Given the description of an element on the screen output the (x, y) to click on. 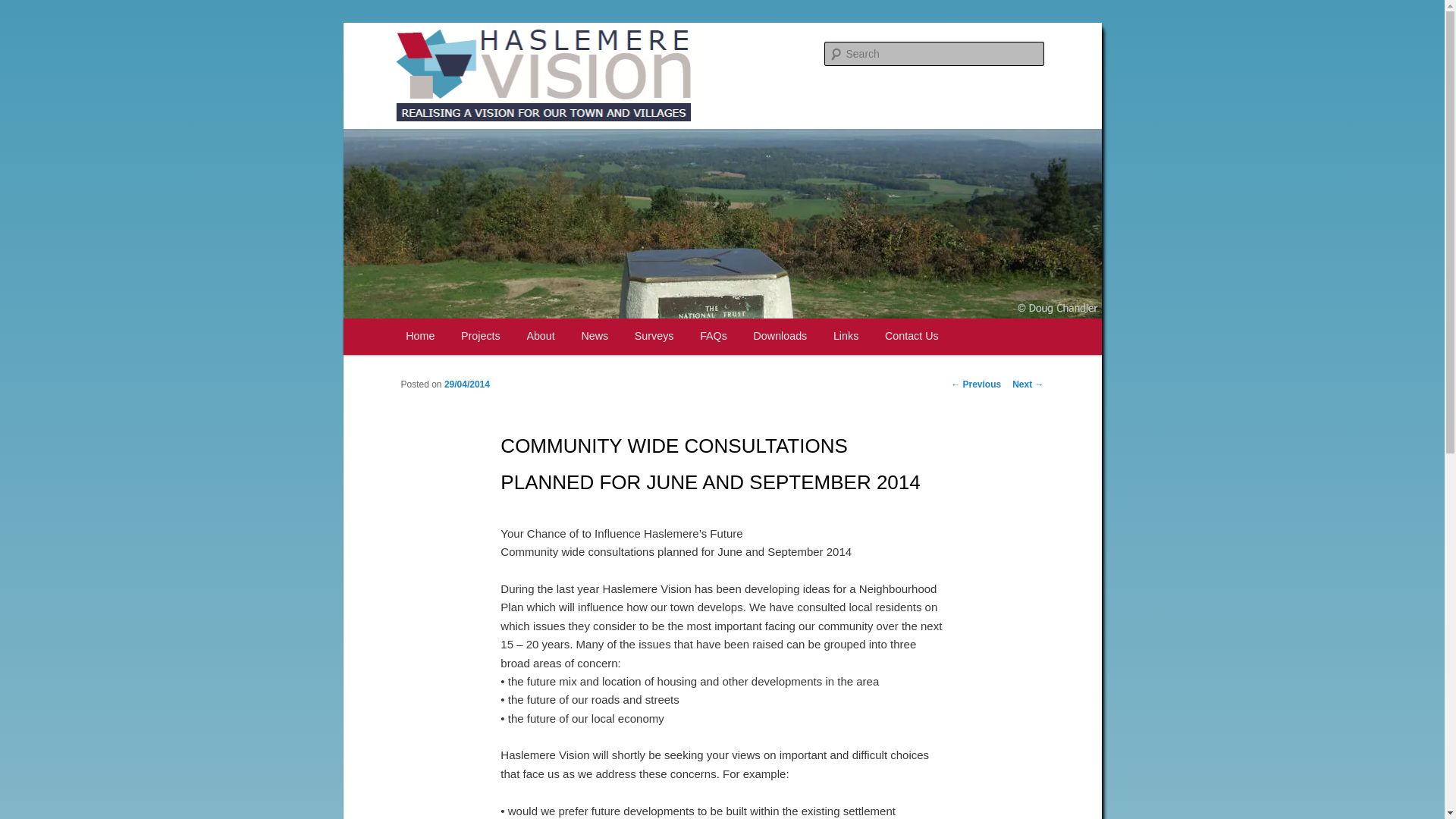
Downloads (779, 336)
Search (24, 8)
Home (420, 336)
Contact Us (912, 336)
Surveys (653, 336)
FAQs (713, 336)
Haslemere Vision (494, 77)
Frequently Asked Questions (713, 336)
Haslemere Vision (494, 77)
Links (846, 336)
News (594, 336)
Projects (480, 336)
About (540, 336)
